Given the description of an element on the screen output the (x, y) to click on. 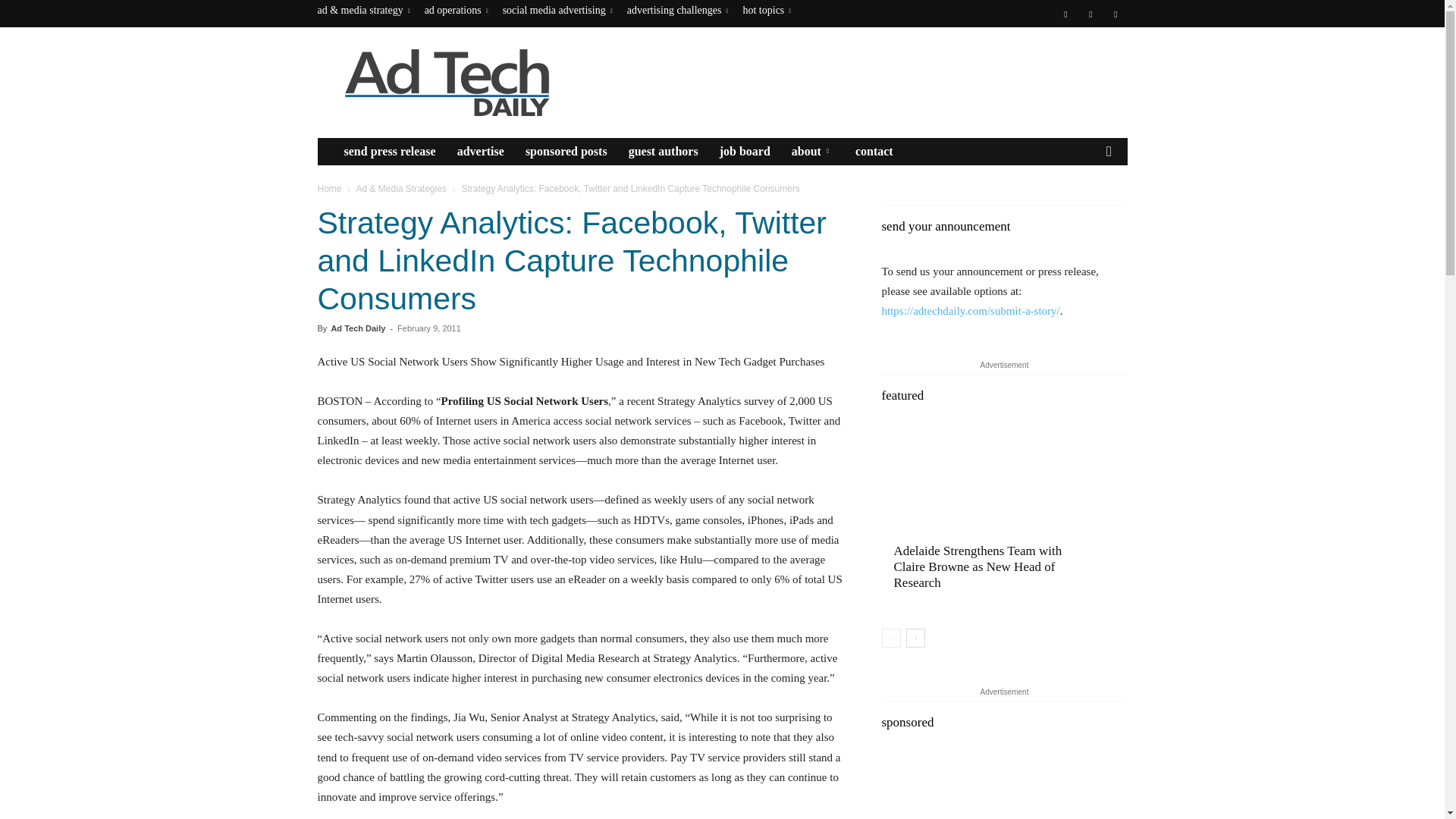
advertising challenges (678, 9)
hot topics (766, 9)
ad operations (456, 9)
social media advertising (557, 9)
